Given the description of an element on the screen output the (x, y) to click on. 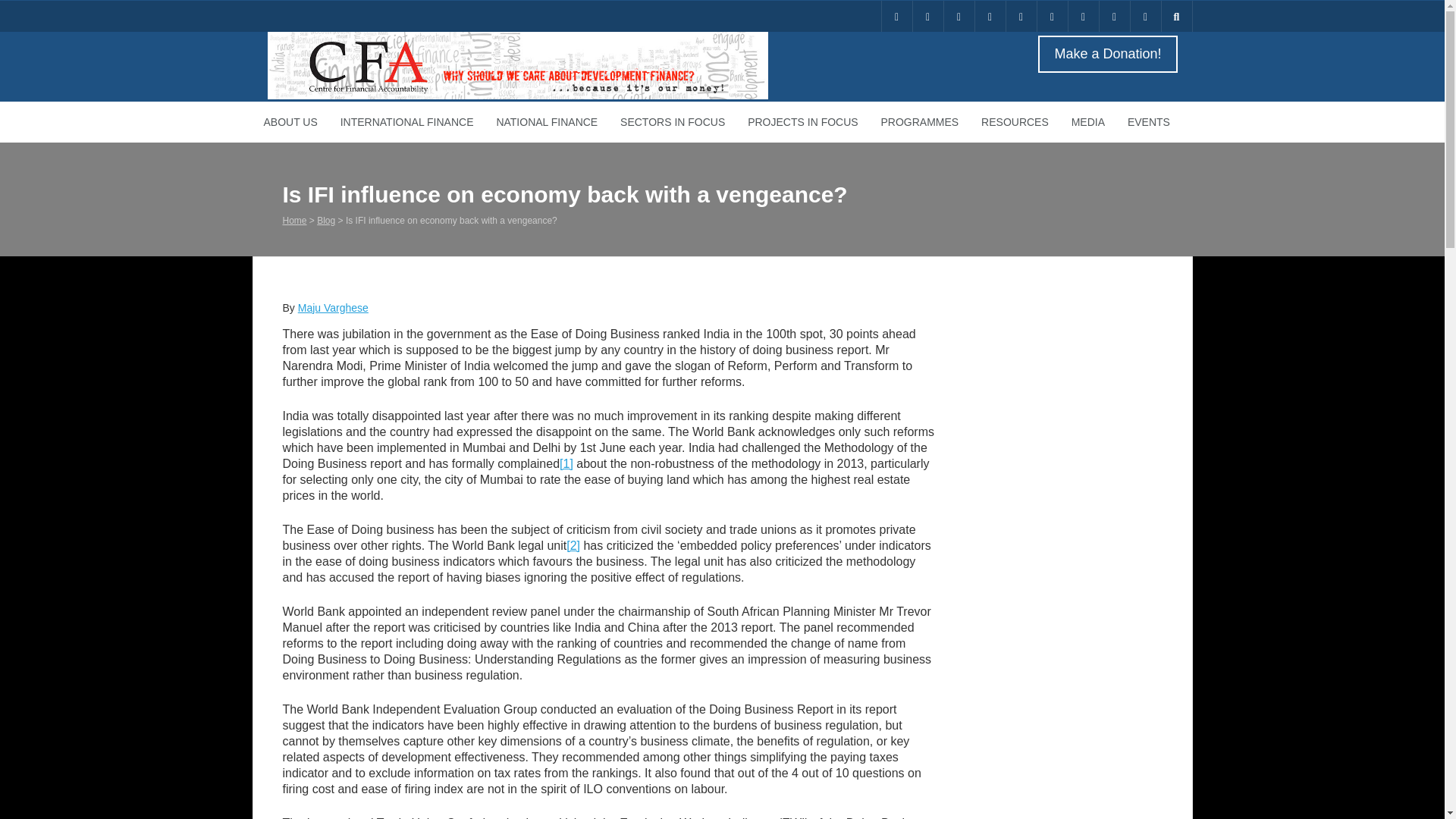
INTERNATIONAL FINANCE (406, 121)
Flickr (1082, 15)
Search (22, 8)
Facebook (990, 15)
linkedin (958, 15)
SECTORS IN FOCUS (672, 121)
Donate Us (895, 15)
Posts by Maju Varghese (333, 307)
Make a Donation! (1106, 54)
spotify (1114, 15)
